Given the description of an element on the screen output the (x, y) to click on. 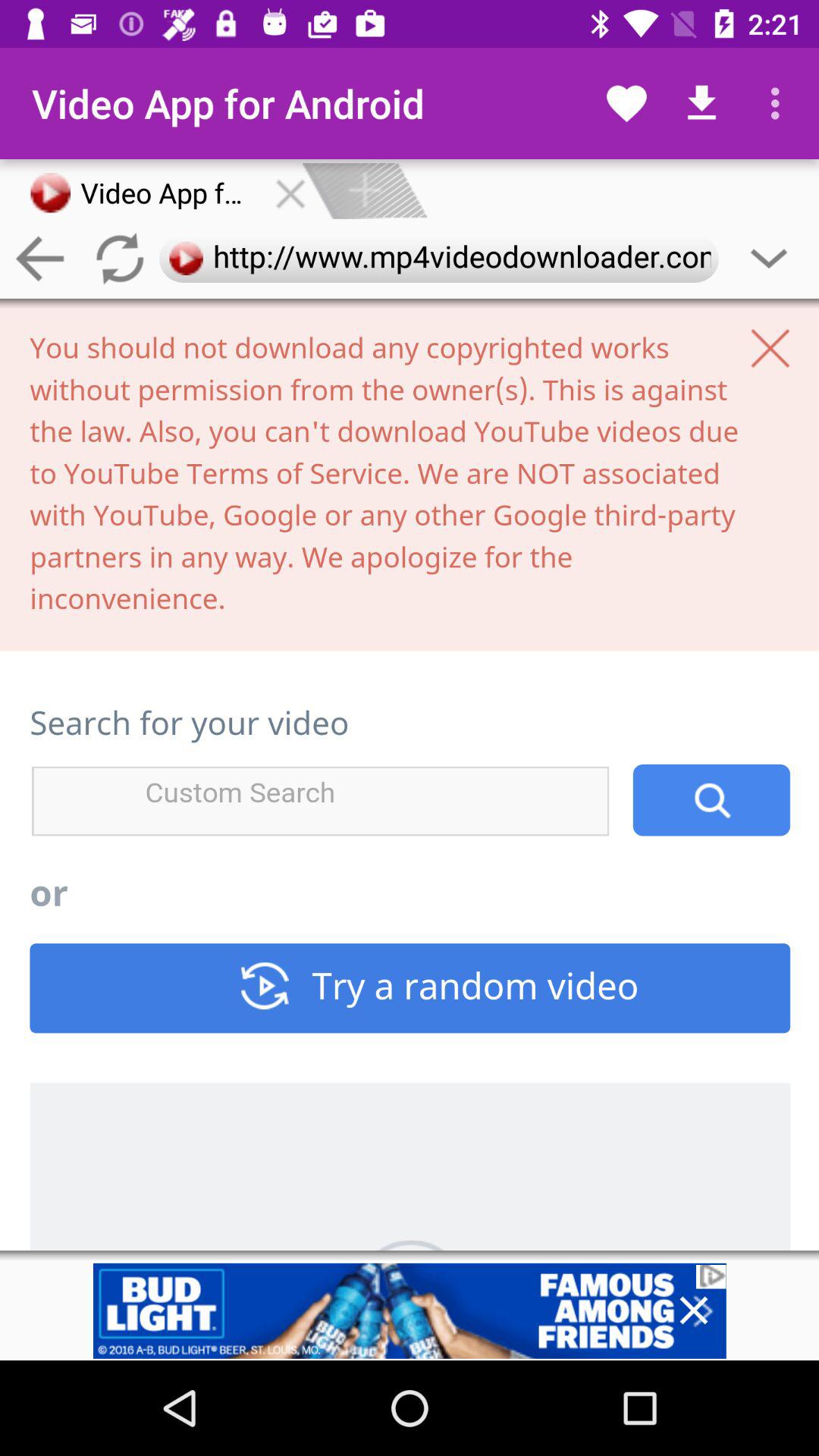
click on download button (701, 103)
